Given the description of an element on the screen output the (x, y) to click on. 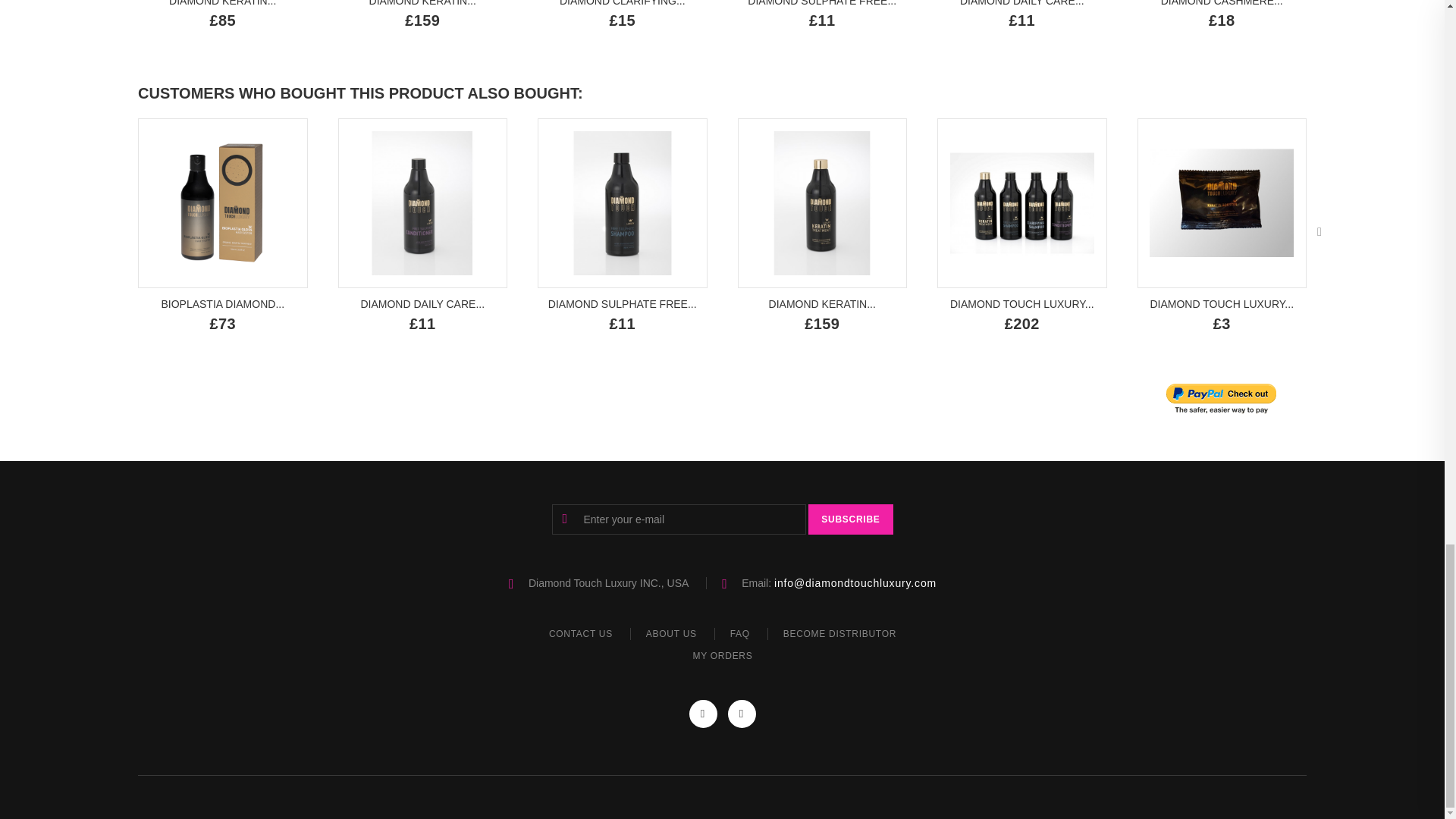
DIAMOND SULPHATE FREE... (822, 3)
DIAMOND KERATIN TREATMENT 500ML (222, 3)
DIAMOND CLARIFYING... (622, 3)
Enter your e-mail (678, 519)
DIAMOND KERATIN... (422, 3)
DIAMOND DAILY CARE... (1021, 3)
DIAMOND KERATIN... (222, 3)
